Given the description of an element on the screen output the (x, y) to click on. 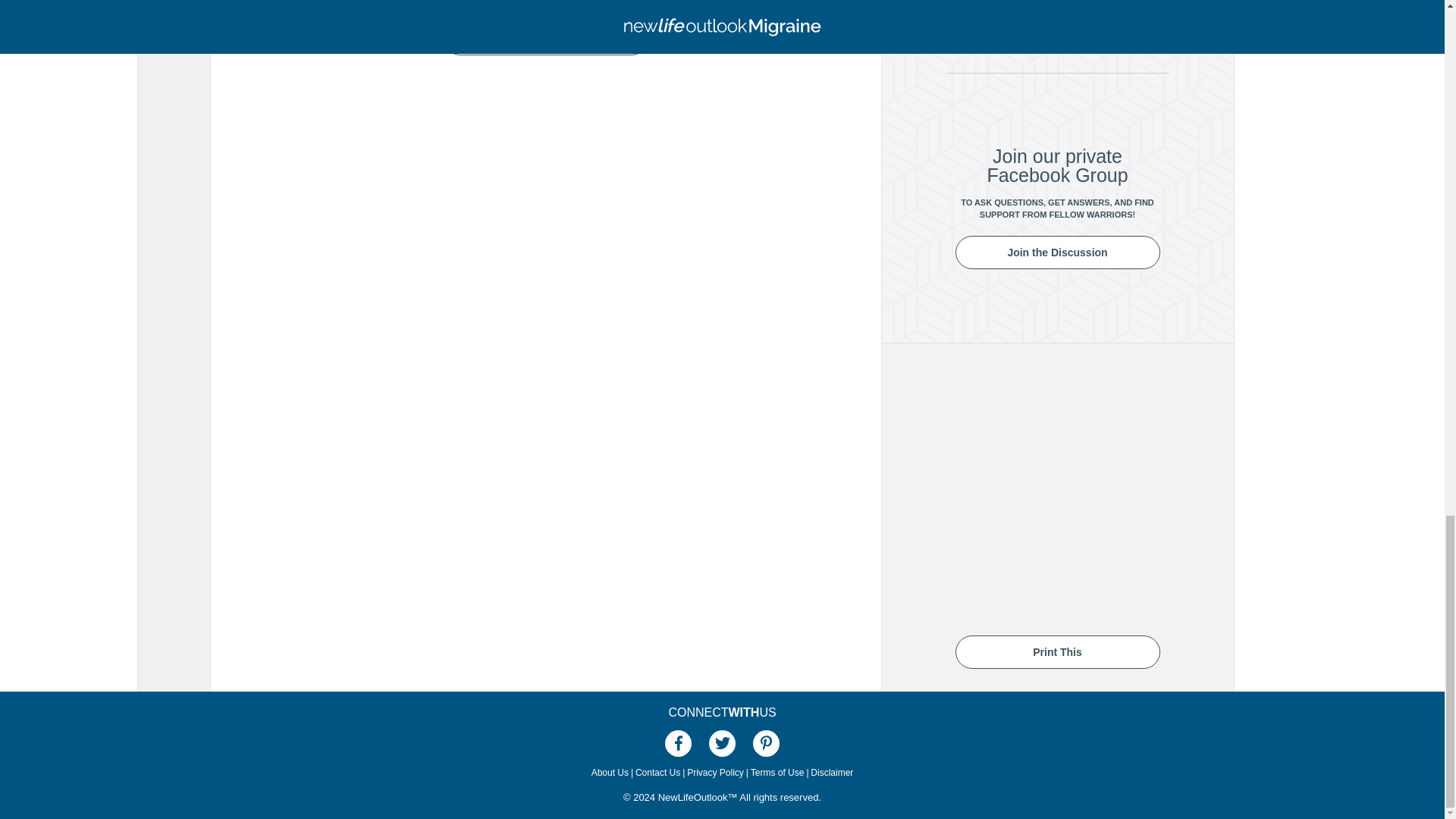
Print This (1057, 651)
Join the Discussion (1057, 252)
Subscribe Now (544, 38)
